Given the description of an element on the screen output the (x, y) to click on. 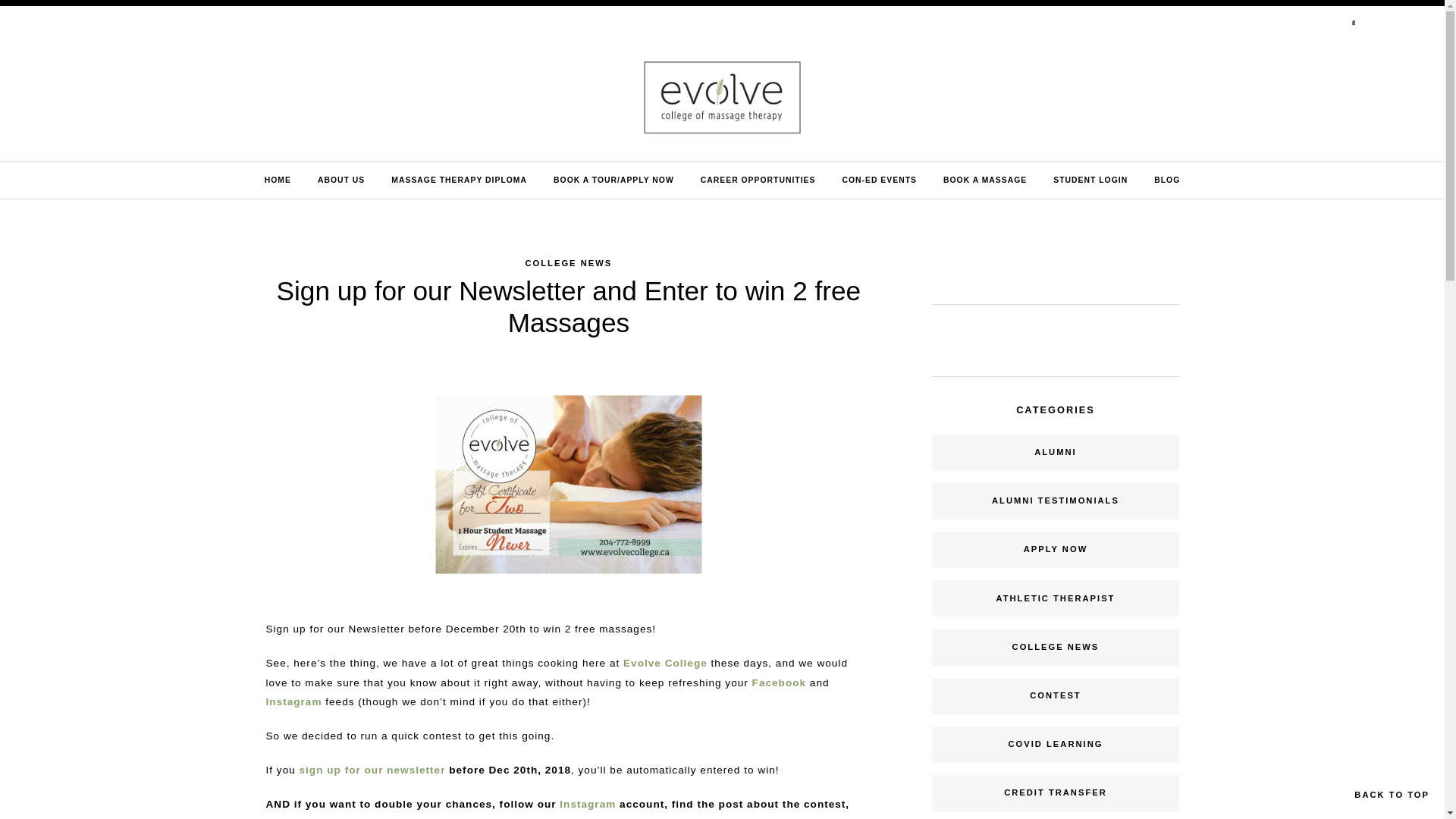
ABOUT US (341, 180)
Search for: (1324, 24)
Search (23, 6)
MASSAGE THERAPY DIPLOMA (459, 180)
